Given the description of an element on the screen output the (x, y) to click on. 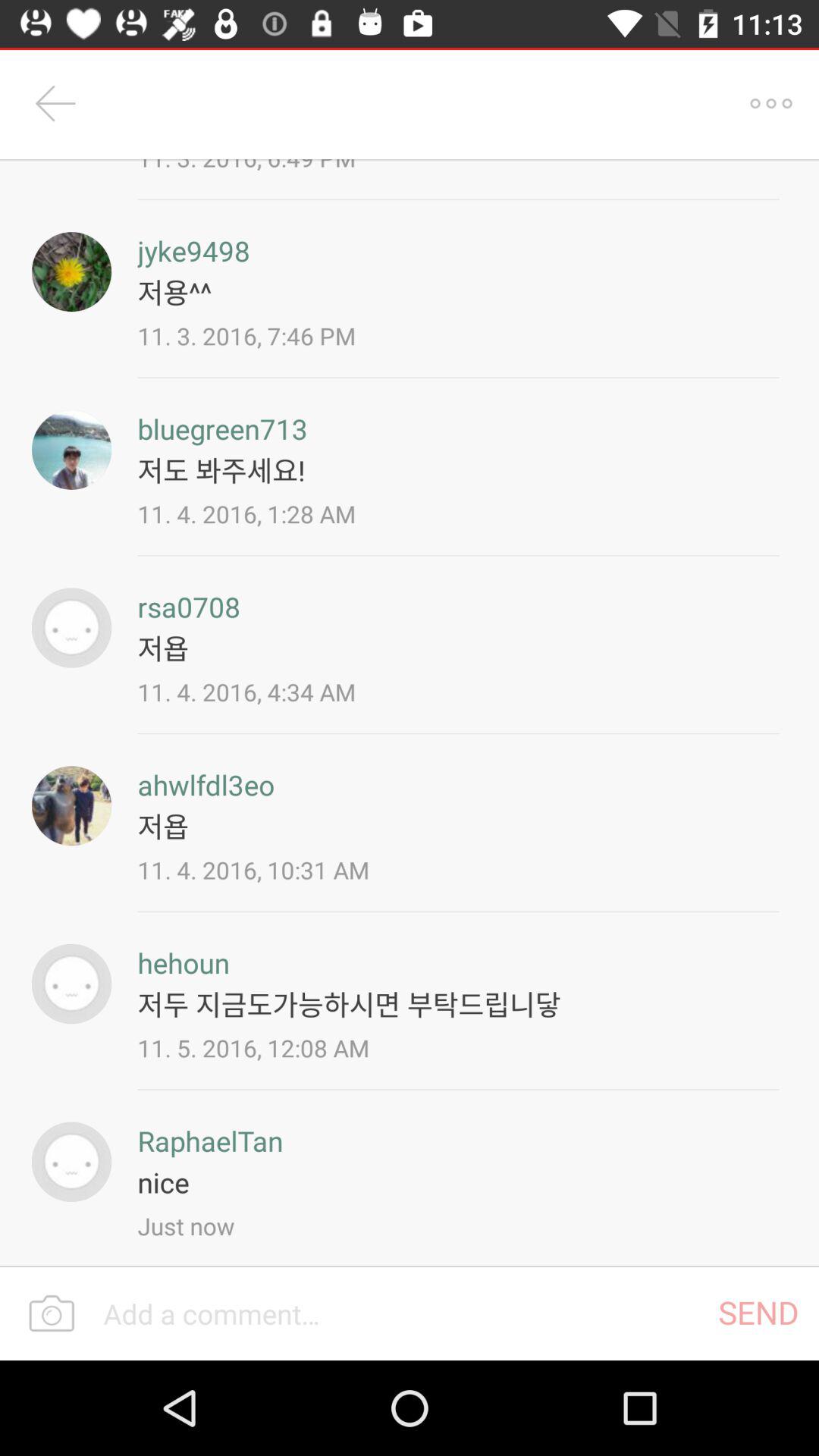
opens information of a person (71, 449)
